Given the description of an element on the screen output the (x, y) to click on. 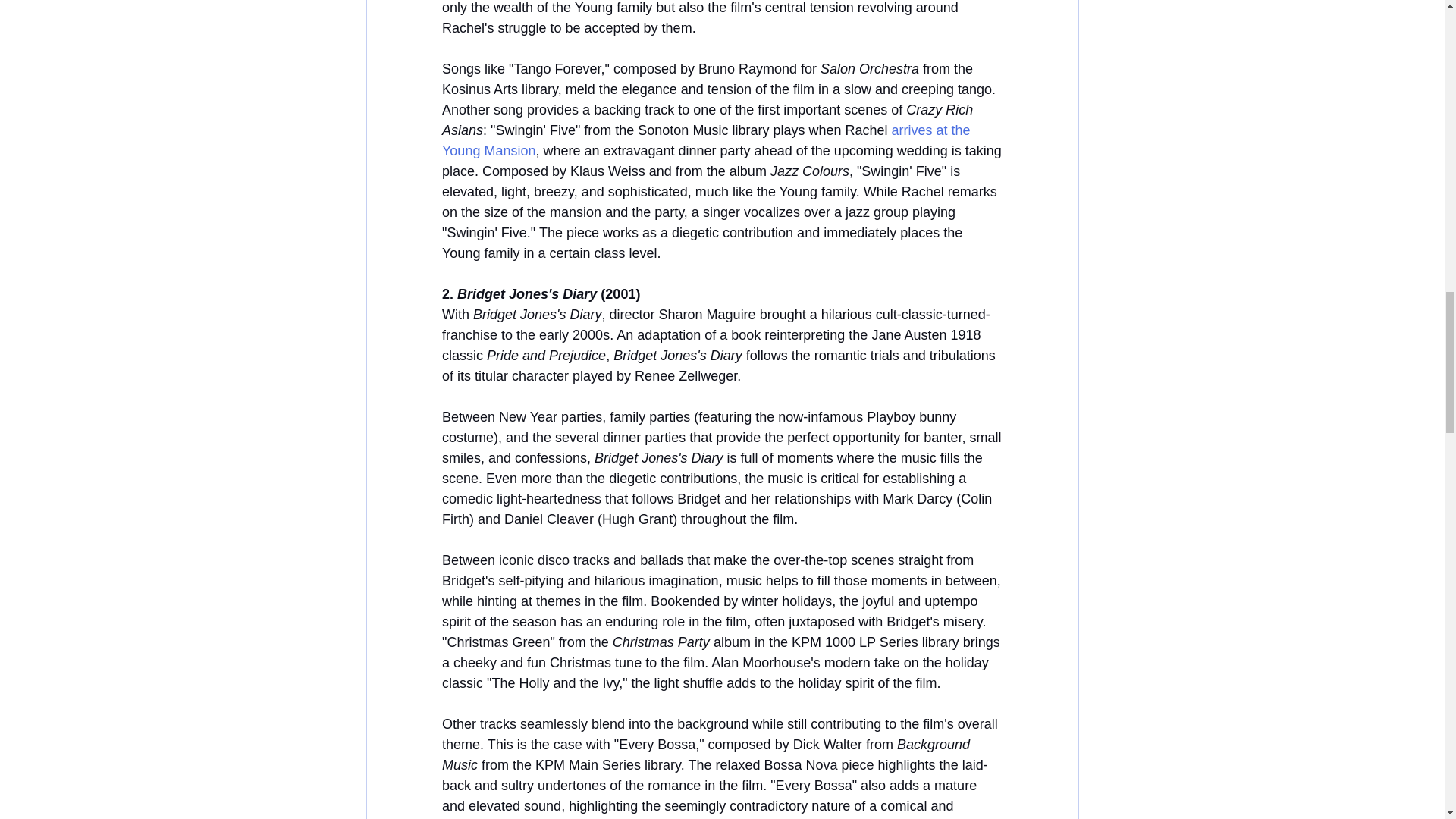
arrives at the Young Mansion (706, 140)
